Given the description of an element on the screen output the (x, y) to click on. 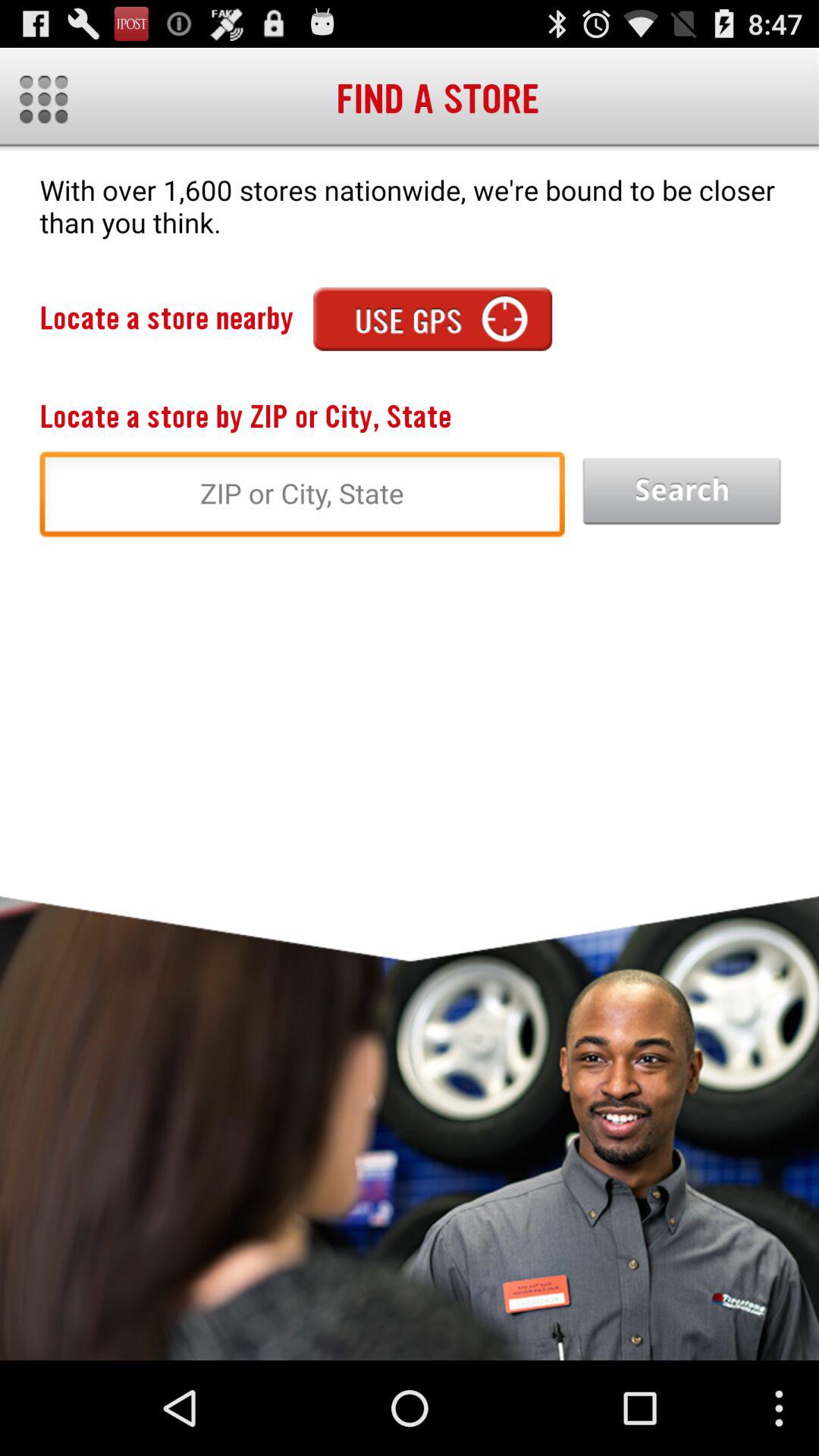
go to menu (43, 99)
